Given the description of an element on the screen output the (x, y) to click on. 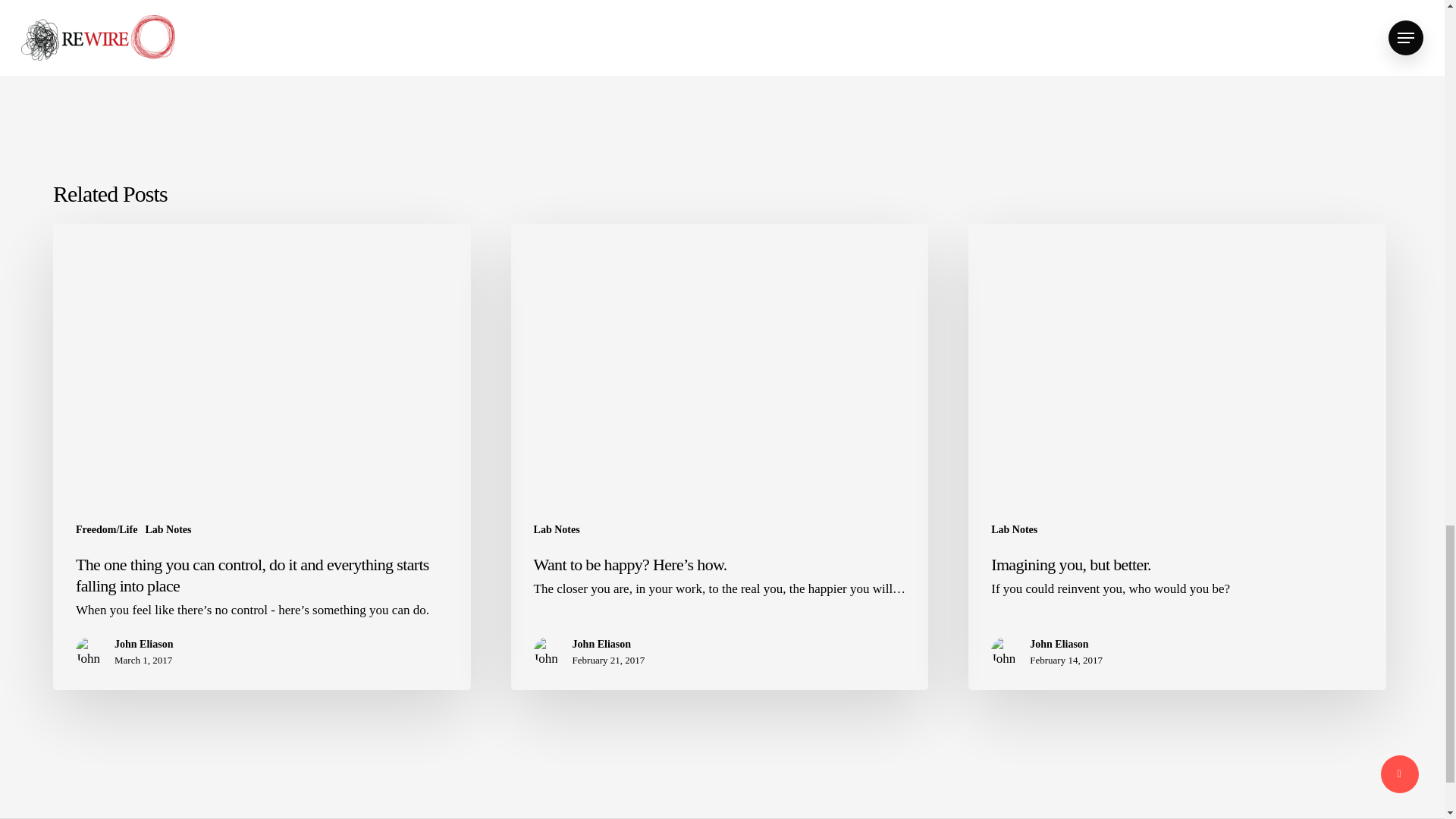
Lab Notes (1013, 529)
Lab Notes (556, 529)
John Eliason (1065, 644)
Lab Notes (167, 529)
John Eliason (608, 644)
John Eliason (144, 644)
